Given the description of an element on the screen output the (x, y) to click on. 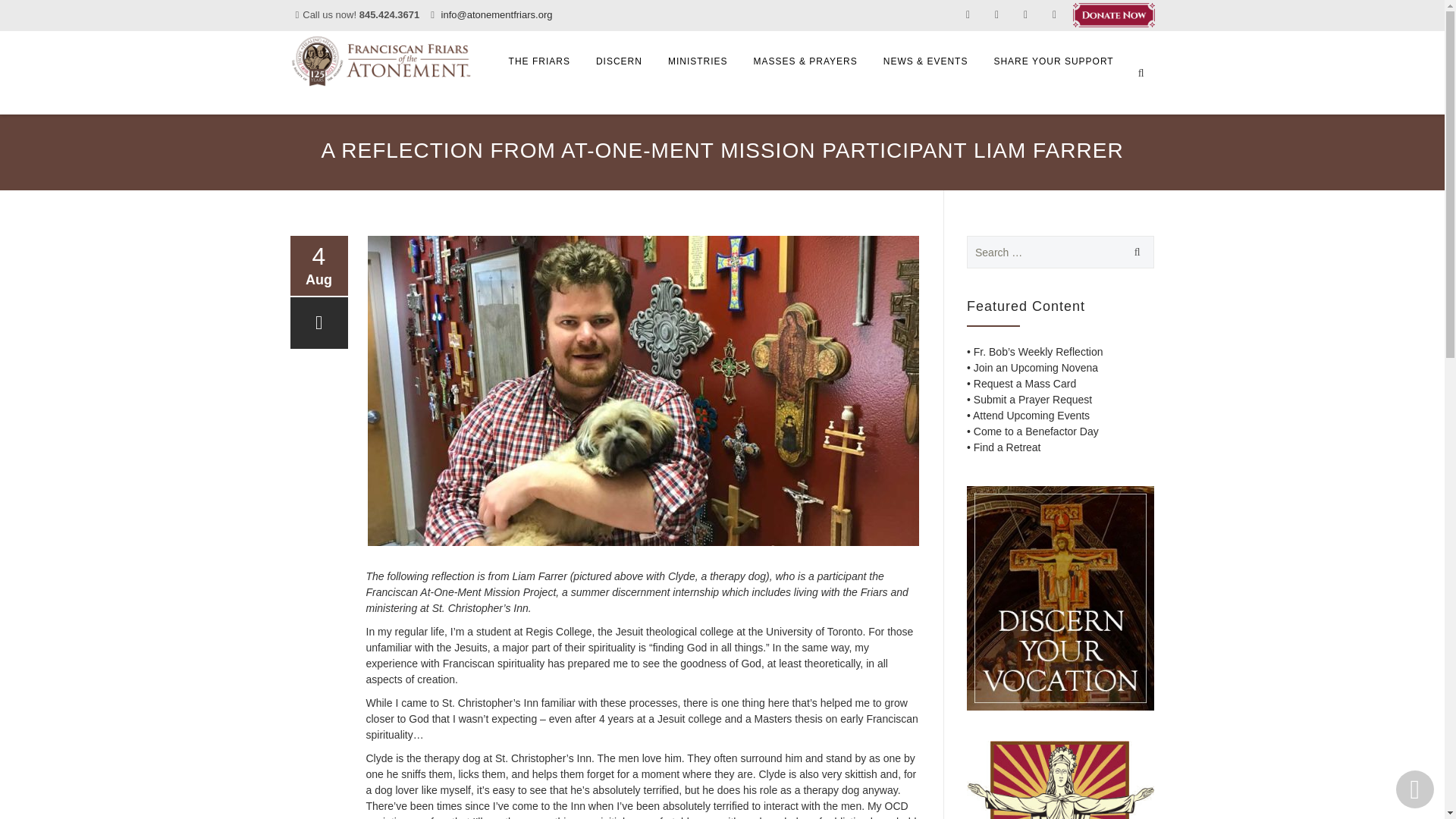
Franciscan Friars of the Atonement (380, 61)
Instagram (584, 574)
Instagram (1025, 14)
MINISTRIES (698, 61)
LinkedIn (997, 14)
Facebook (967, 14)
Facebook (525, 574)
Search (1134, 250)
Vimeo (613, 574)
Search (1134, 250)
DISCERN (619, 61)
THE FRIARS (539, 61)
LinkedIn (555, 574)
